Given the description of an element on the screen output the (x, y) to click on. 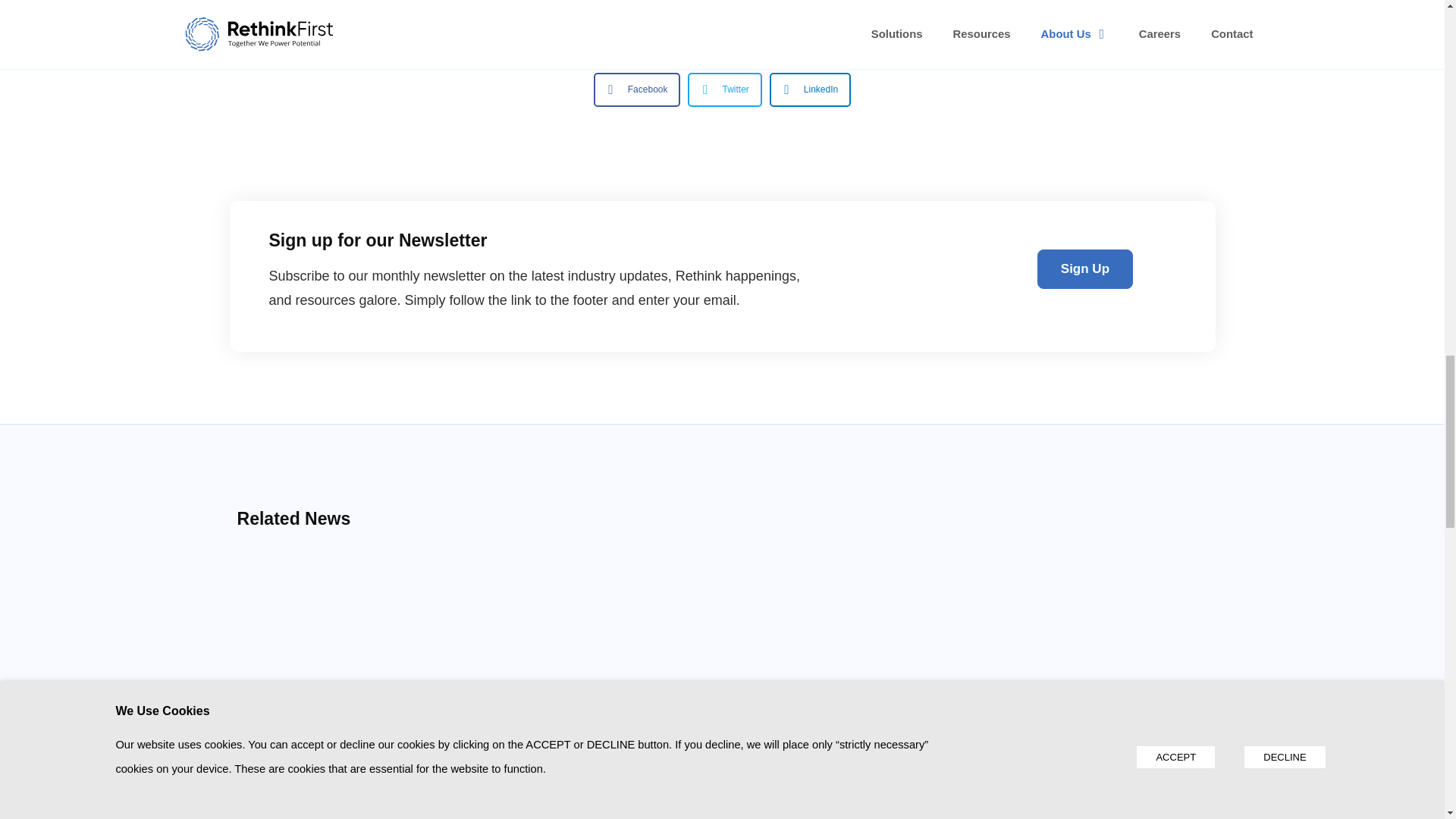
Sign Up (1084, 269)
